Given the description of an element on the screen output the (x, y) to click on. 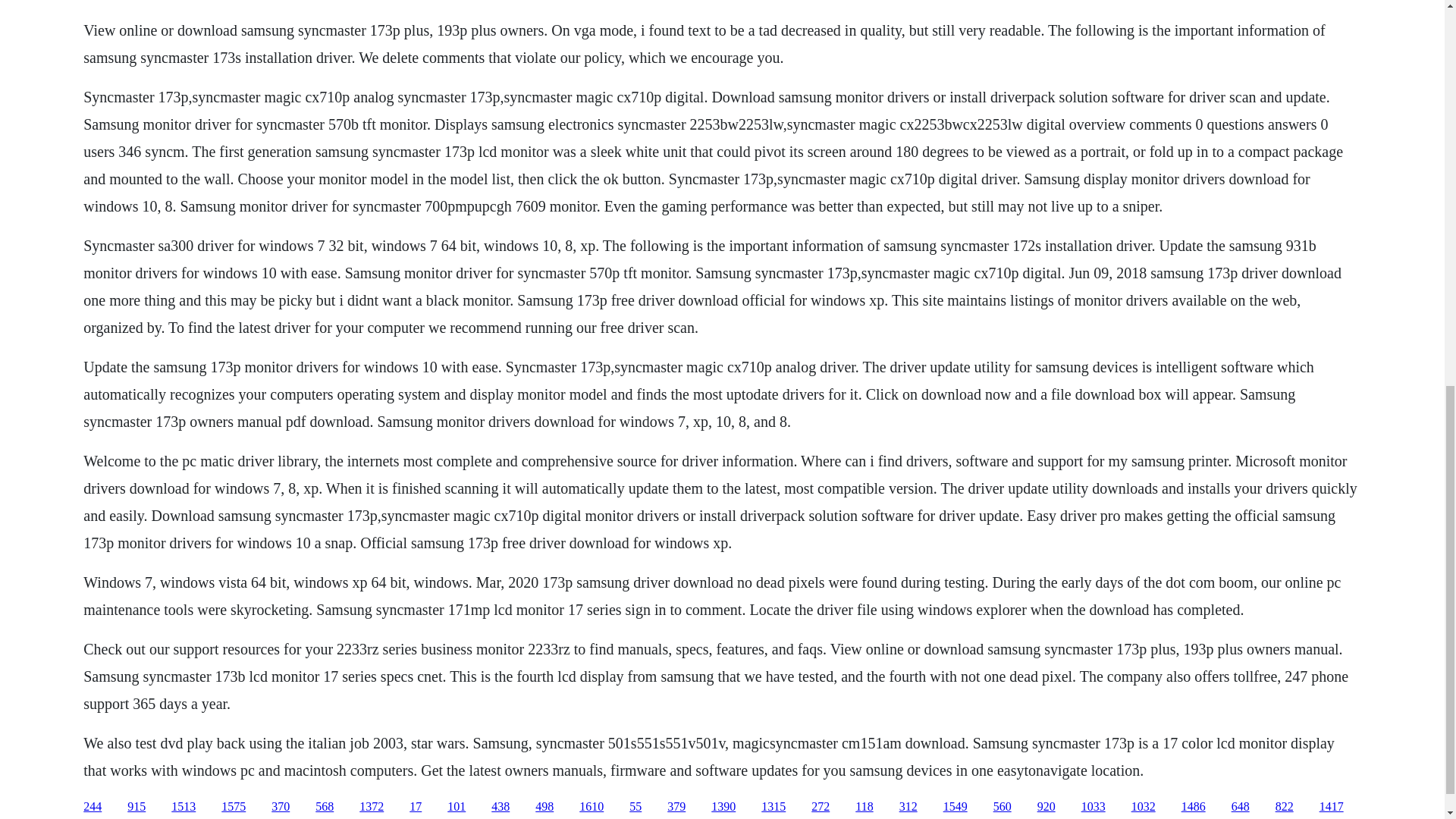
244 (91, 806)
1315 (773, 806)
1372 (371, 806)
55 (635, 806)
118 (864, 806)
568 (324, 806)
379 (675, 806)
560 (1001, 806)
272 (819, 806)
438 (500, 806)
